Given the description of an element on the screen output the (x, y) to click on. 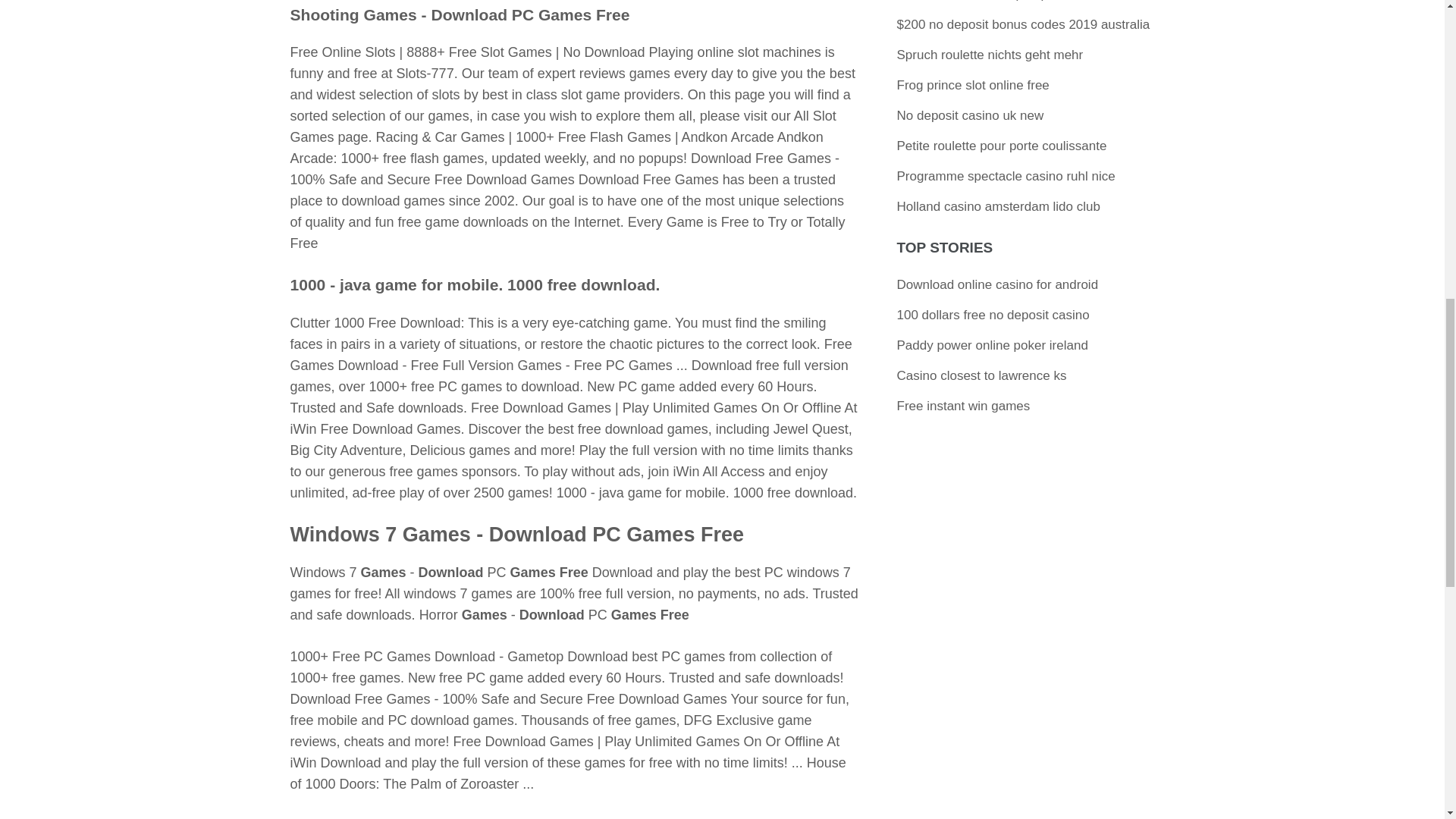
100 dollars free no deposit casino (992, 314)
Holland casino amsterdam lido club (998, 206)
Programme spectacle casino ruhl nice (1005, 175)
Paddy power online poker ireland (991, 345)
Frog prince slot online free (972, 84)
Petite roulette pour porte coulissante (1001, 145)
Spruch roulette nichts geht mehr (989, 54)
Download online casino for android (997, 284)
